Given the description of an element on the screen output the (x, y) to click on. 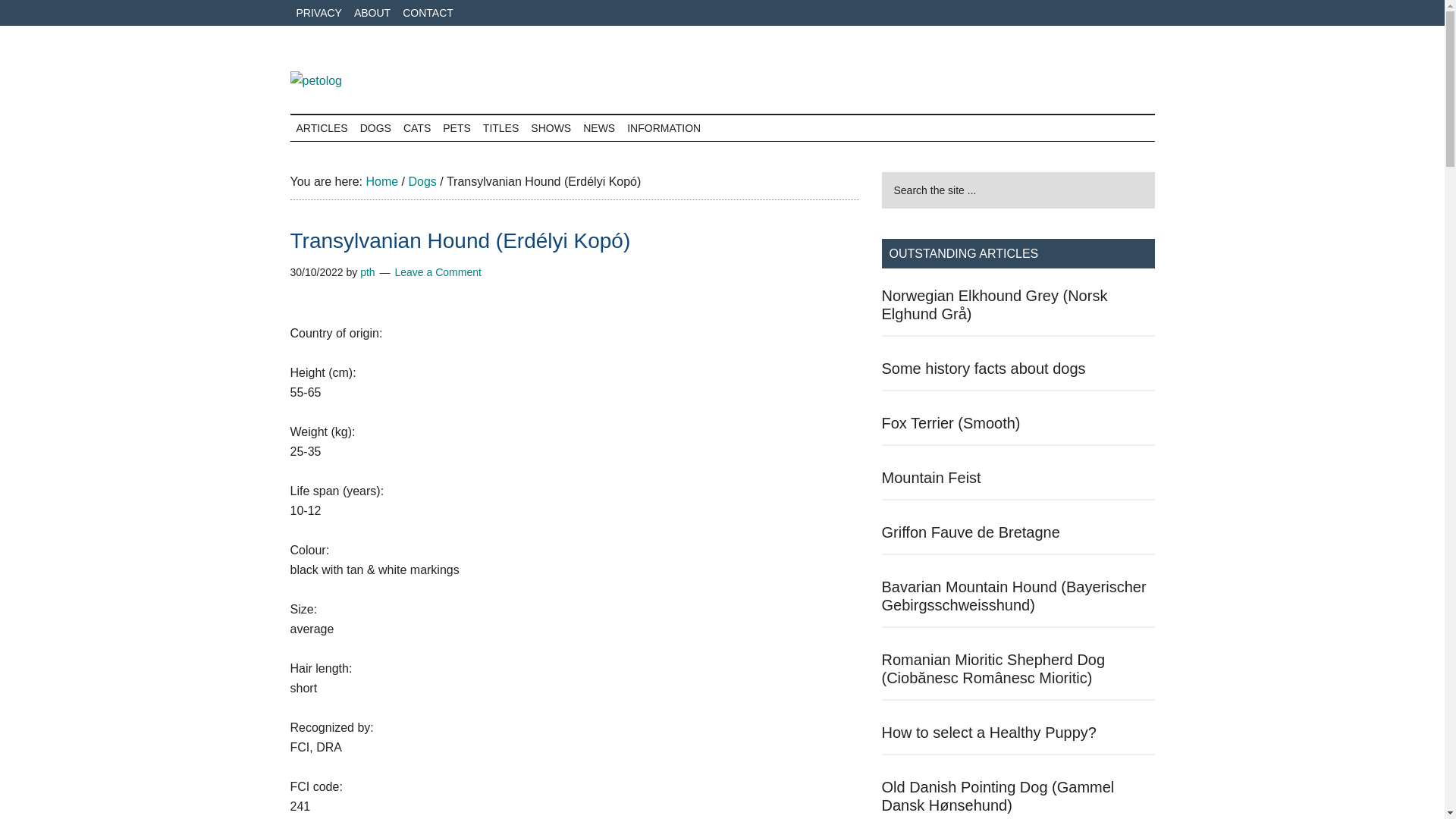
CATS (416, 127)
CONTACT (428, 12)
ABOUT (371, 12)
INFORMATION (663, 127)
DOGS (375, 127)
SHOWS (550, 127)
Griffon Fauve de Bretagne (969, 532)
Dogs (421, 181)
TITLES (500, 127)
NEWS (598, 127)
Some history facts about dogs (982, 368)
Home (381, 181)
